Given the description of an element on the screen output the (x, y) to click on. 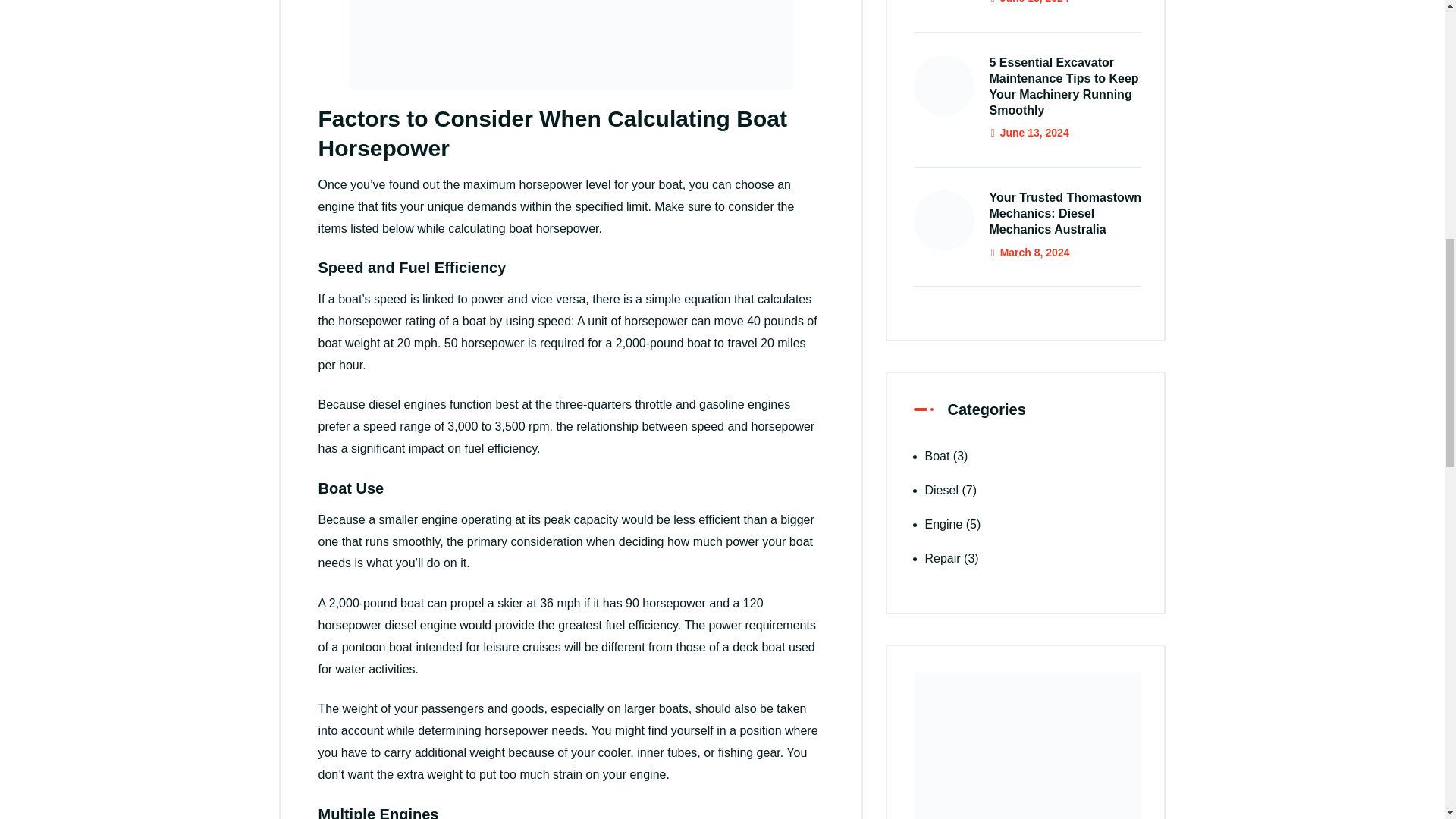
Engine (943, 523)
Boat (937, 455)
June 13, 2024 (1028, 2)
March 8, 2024 (1028, 252)
June 13, 2024 (1028, 132)
Diesel (941, 490)
